Given the description of an element on the screen output the (x, y) to click on. 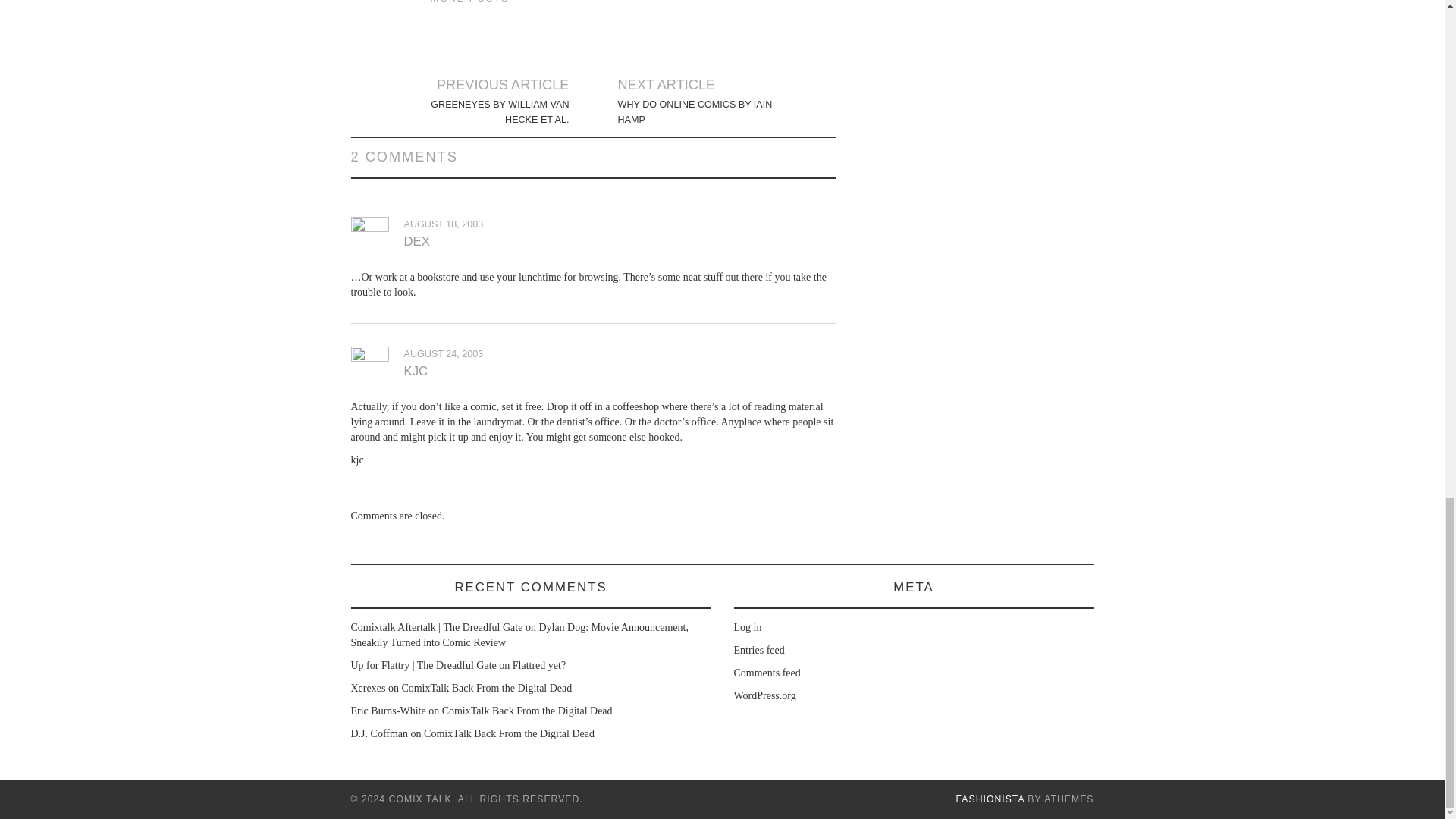
AUGUST 24, 2003 (443, 353)
MORE POSTS (469, 2)
AUGUST 18, 2003 (443, 224)
WHY DO ONLINE COMICS BY IAIN HAMP (702, 112)
GREENEYES BY WILLIAM VAN HECKE ET AL. (483, 112)
